Given the description of an element on the screen output the (x, y) to click on. 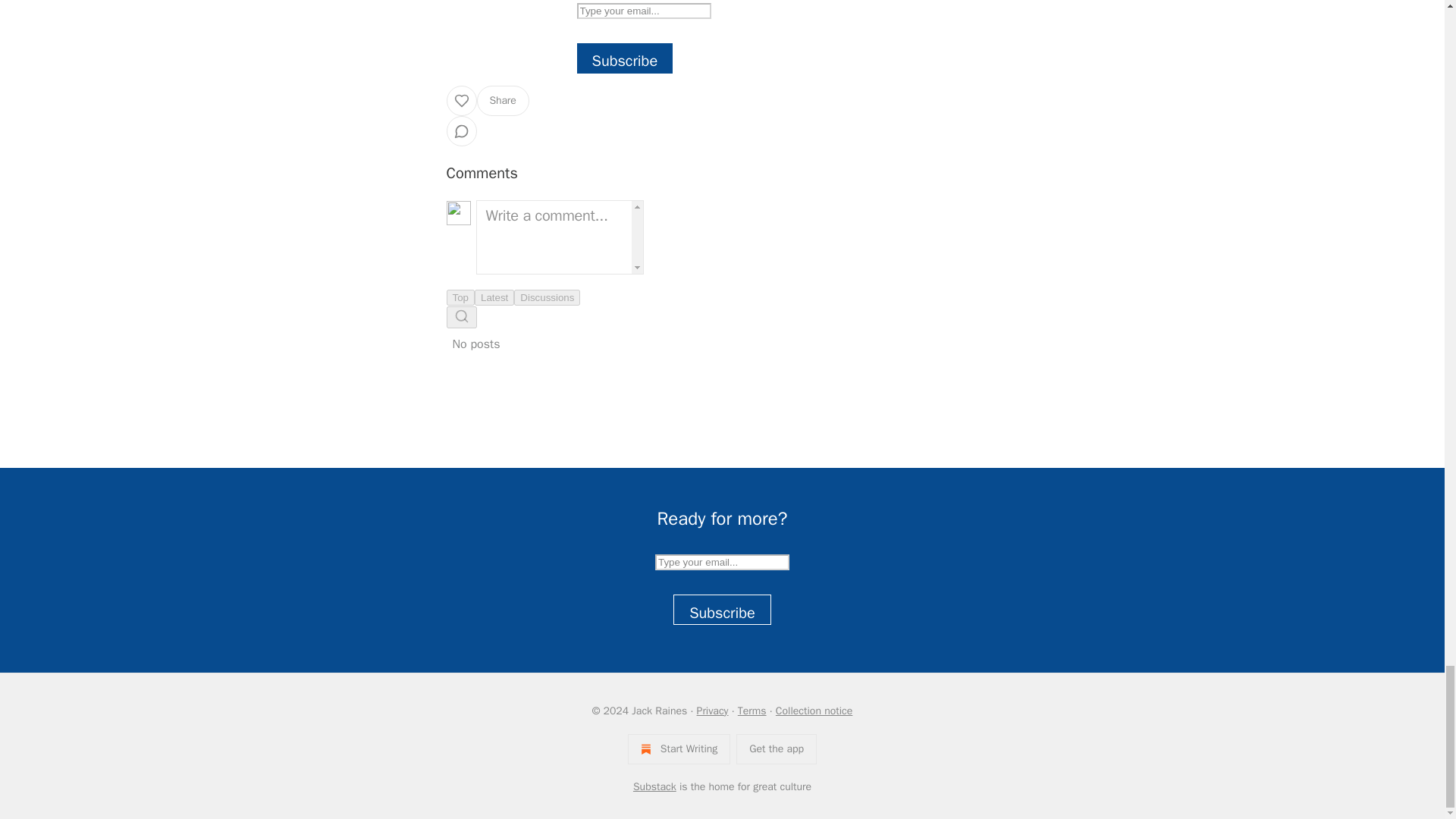
Subscribe (624, 58)
